Given the description of an element on the screen output the (x, y) to click on. 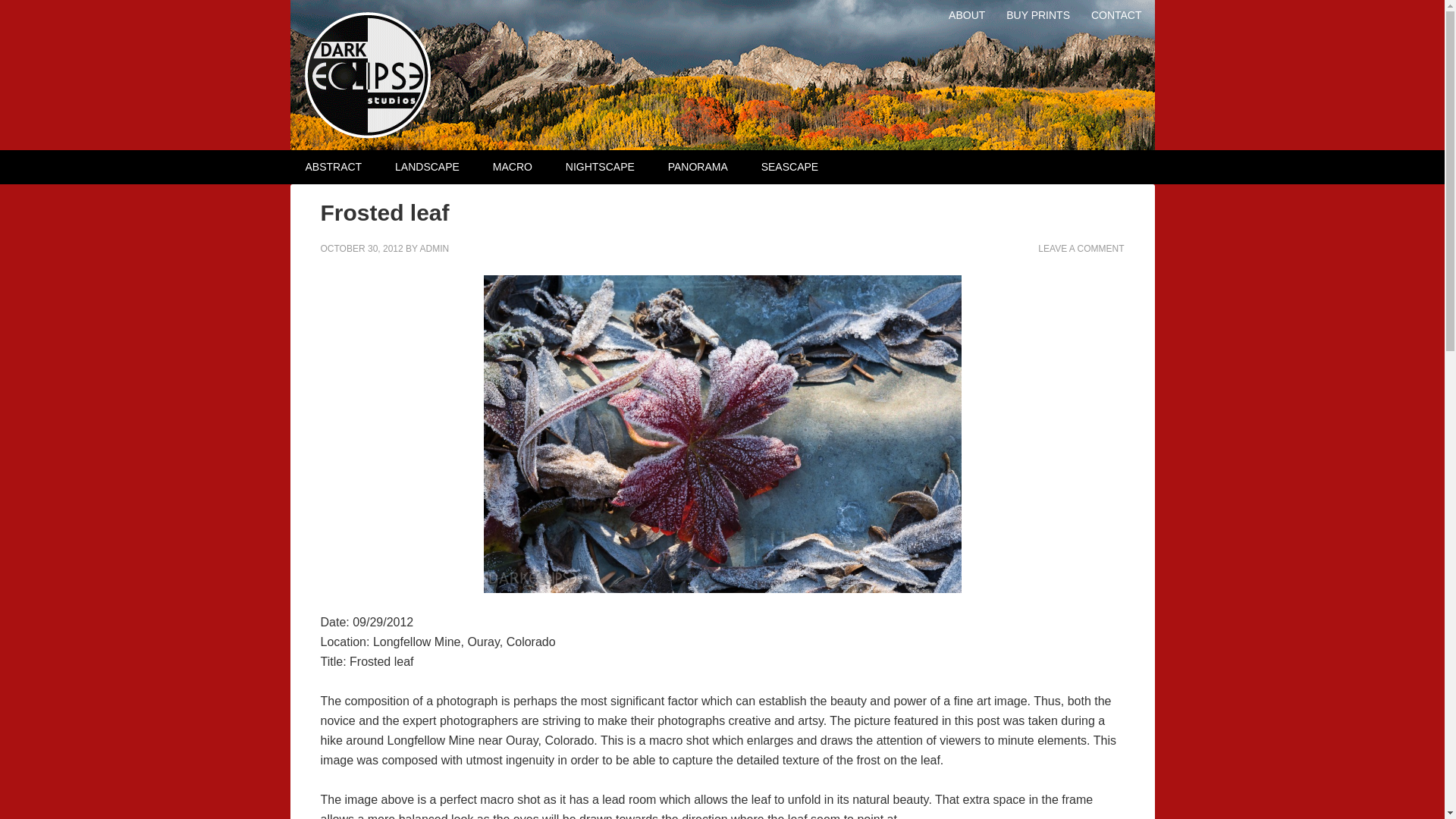
ADMIN (433, 248)
MACRO (512, 166)
ABSTRACT (333, 166)
ABOUT (966, 11)
Frosted leaf (384, 212)
LEAVE A COMMENT (1081, 248)
NIGHTSCAPE (599, 166)
LANDSCAPE (427, 166)
PANORAMA (697, 166)
SEASCAPE (788, 166)
CONTACT (1116, 11)
BUY PRINTS (1037, 11)
